Given the description of an element on the screen output the (x, y) to click on. 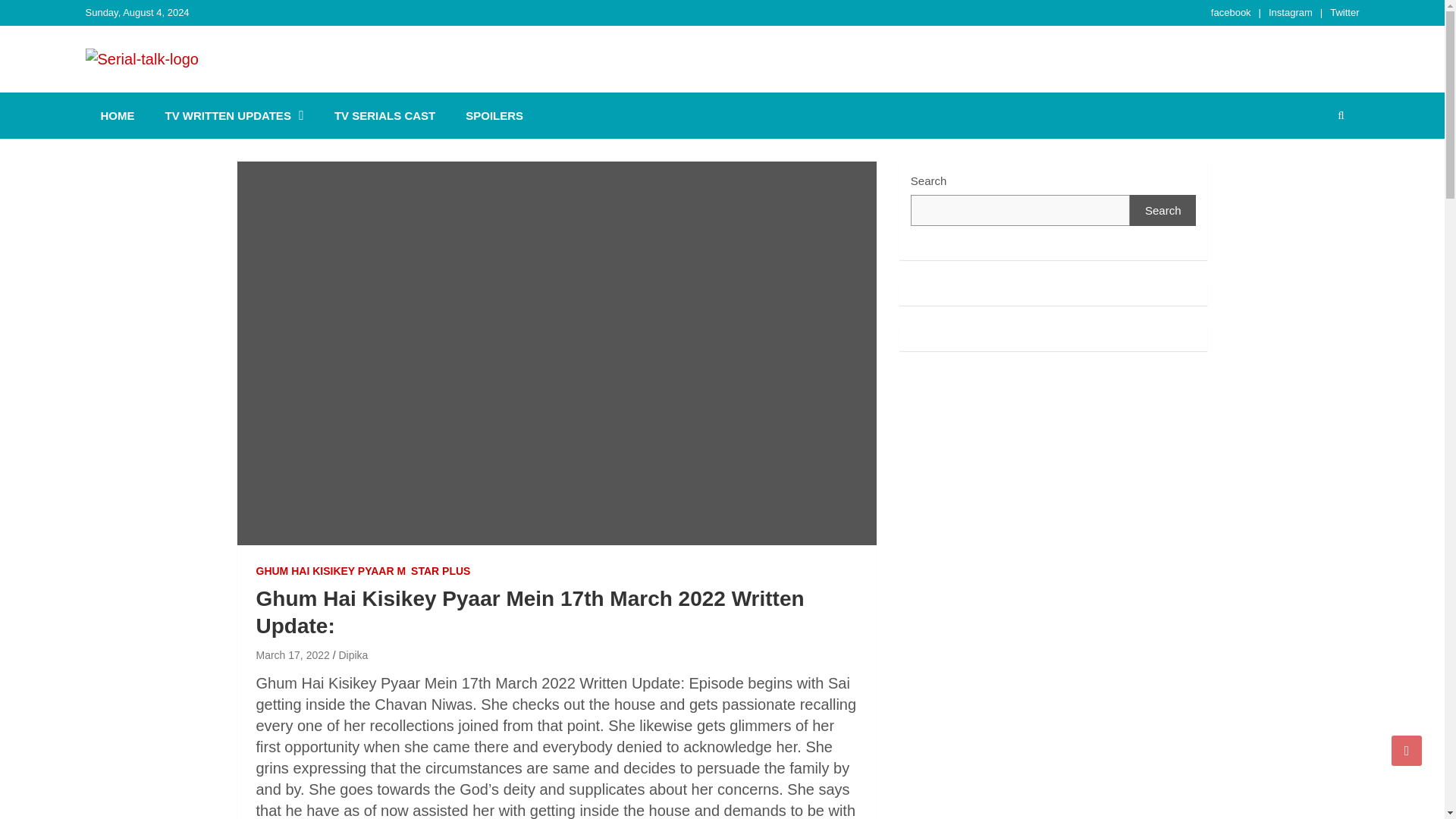
Twitter (1344, 12)
Serial Talk (159, 89)
facebook (1230, 12)
Instagram (1290, 12)
TV WRITTEN UPDATES (233, 115)
HOME (116, 115)
Ghum Hai Kisikey Pyaar Mein 17th March 2022 Written Update: (293, 654)
